Given the description of an element on the screen output the (x, y) to click on. 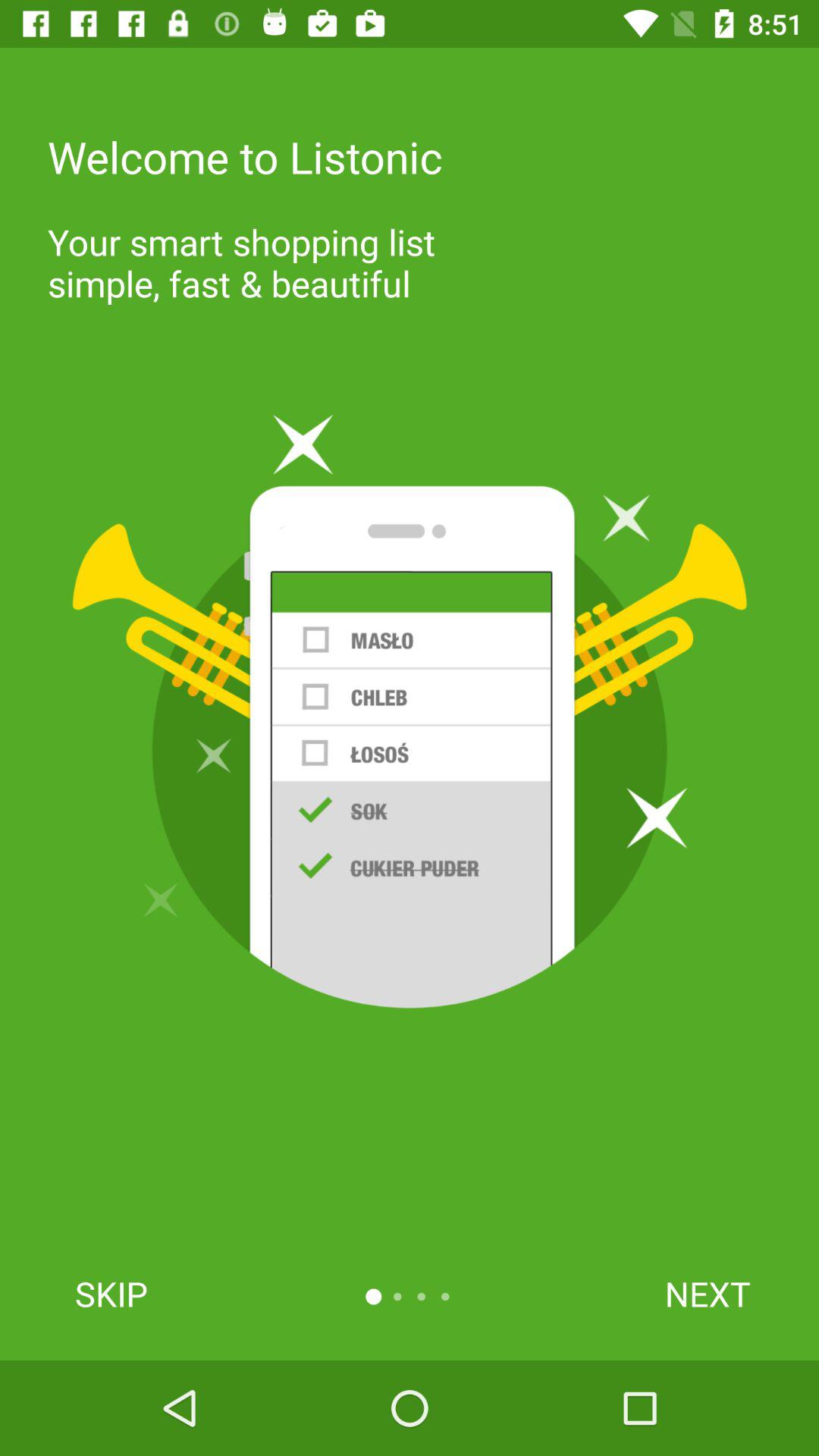
press the icon below the your smart shopping icon (409, 711)
